Given the description of an element on the screen output the (x, y) to click on. 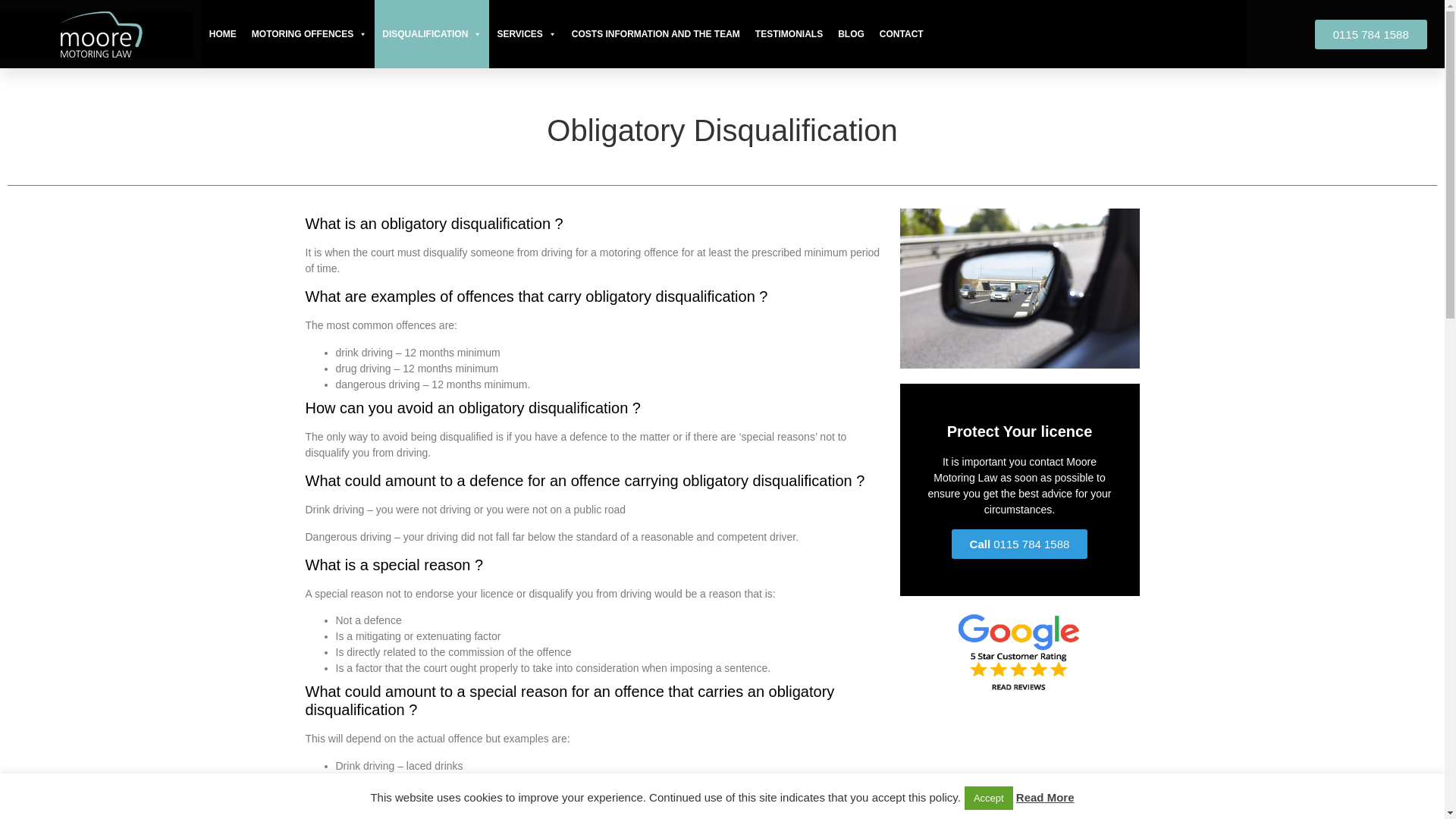
COSTS INFORMATION AND THE TEAM (656, 33)
0115 784 1588 (1370, 34)
TESTIMONIALS (788, 33)
MOTORING OFFENCES (309, 33)
SERVICES (526, 33)
DISQUALIFICATION (431, 33)
